Given the description of an element on the screen output the (x, y) to click on. 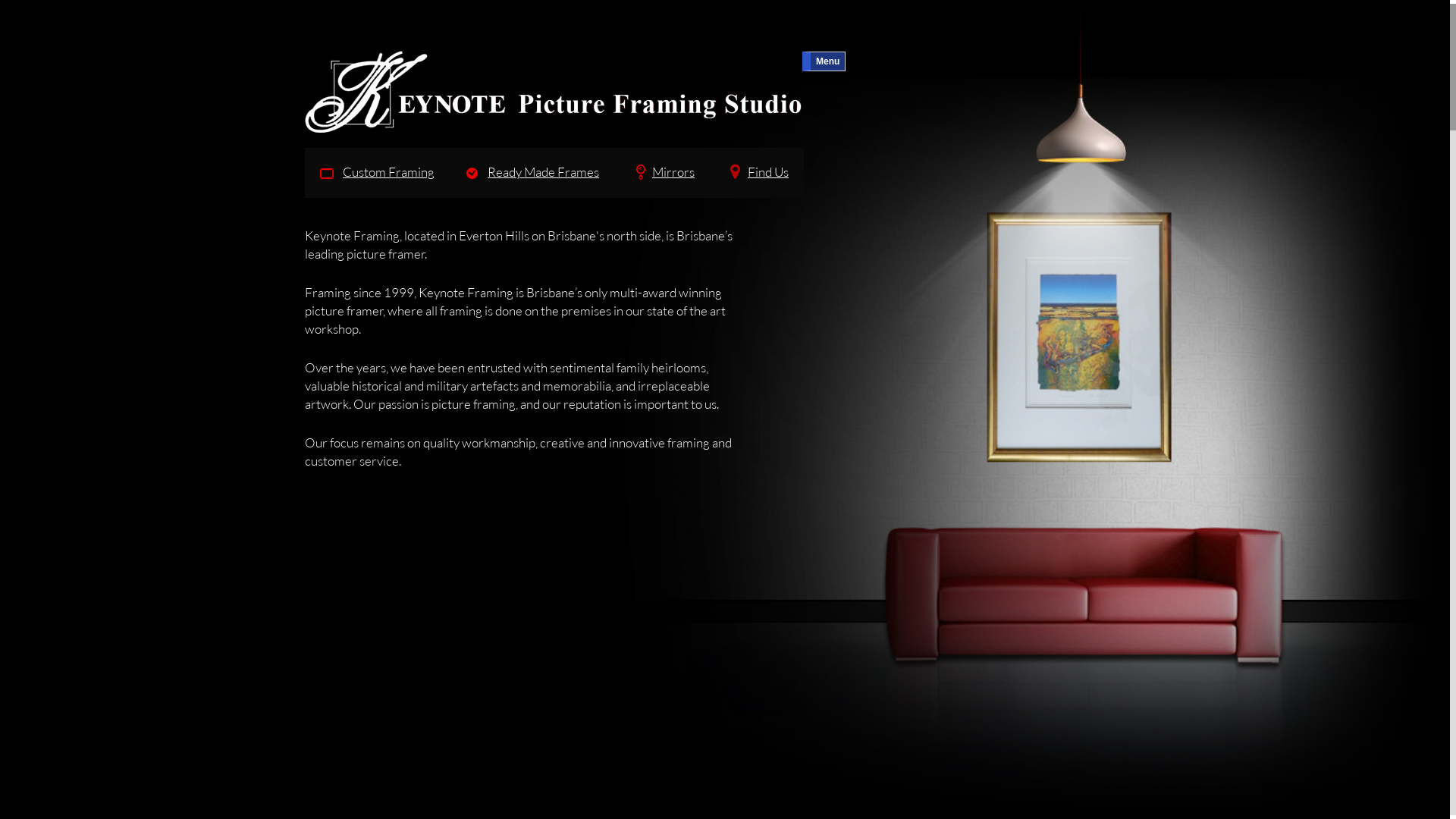
Mirrors Element type: text (661, 172)
Logo Element type: hover (553, 91)
Menu Element type: text (823, 61)
Custom Framing Element type: text (376, 172)
Ready Made Frames Element type: text (531, 172)
Find Us Element type: text (756, 172)
